Given the description of an element on the screen output the (x, y) to click on. 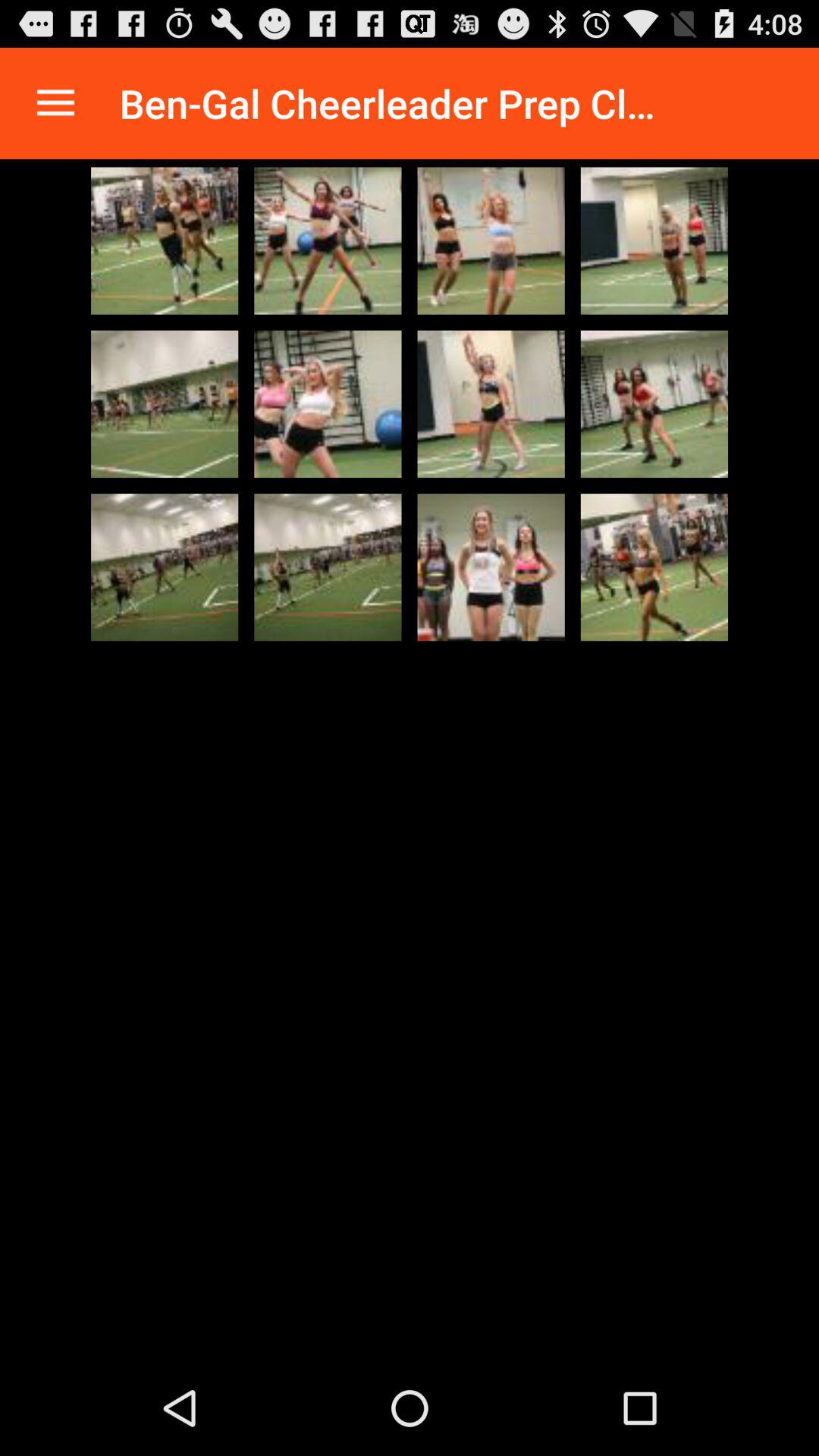
select the video select the entry (654, 403)
